Given the description of an element on the screen output the (x, y) to click on. 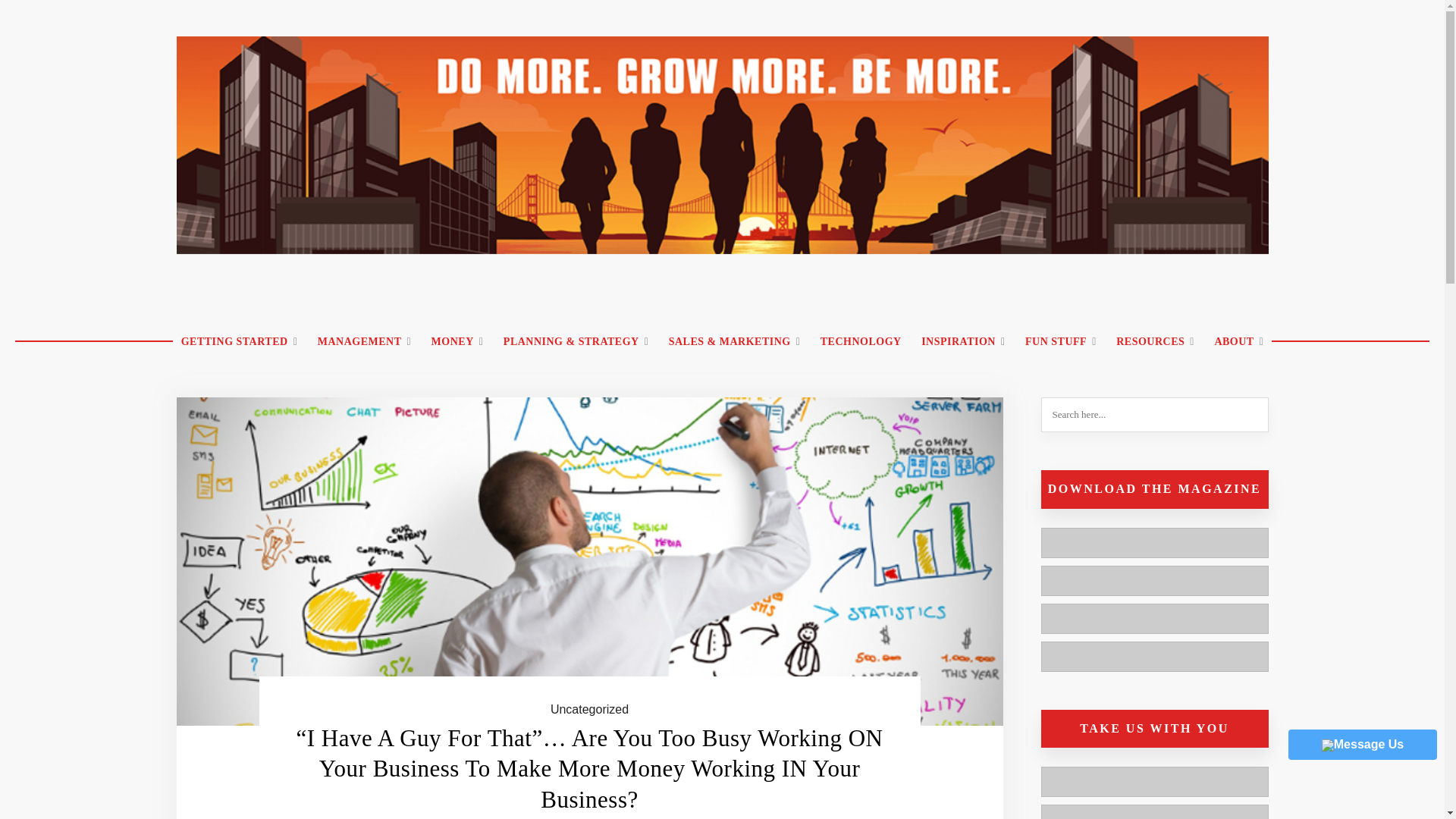
FUN STUFF (1060, 341)
INSPIRATION (962, 341)
MONEY (456, 341)
MANAGEMENT (363, 341)
GETTING STARTED (239, 341)
TECHNOLOGY (861, 341)
